Given the description of an element on the screen output the (x, y) to click on. 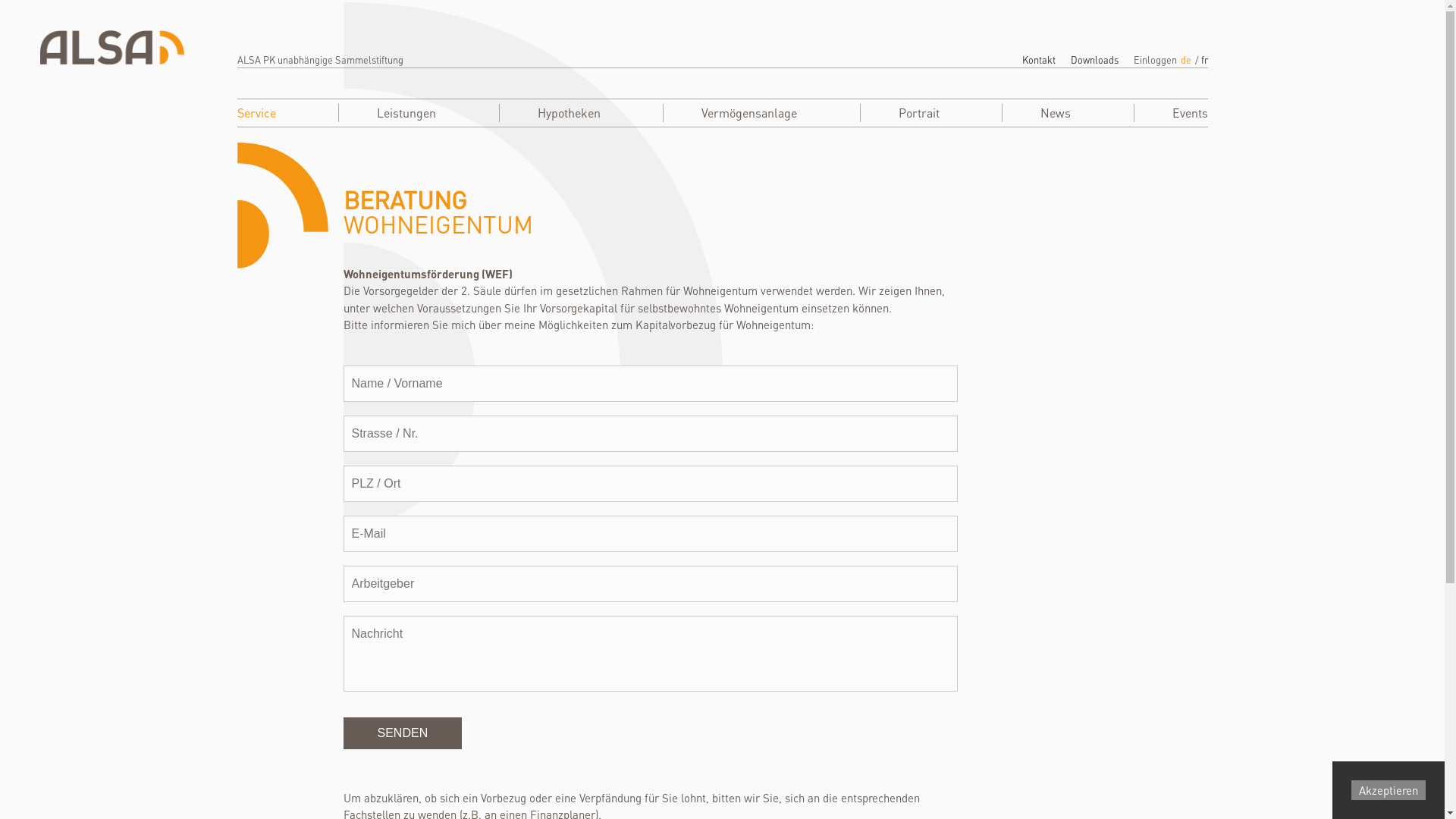
Homepage Element type: hover (111, 47)
News Element type: text (1055, 112)
Service Element type: text (255, 112)
Portrait Element type: text (917, 112)
fr Element type: text (1204, 59)
SENDEN Element type: text (401, 733)
de Element type: text (1184, 59)
Hypotheken Element type: text (567, 112)
Downloads Element type: text (1094, 59)
Kontakt Element type: text (1038, 59)
Leistungen Element type: text (406, 112)
Events Element type: text (1190, 112)
Akzeptieren Element type: text (1388, 789)
